Given the description of an element on the screen output the (x, y) to click on. 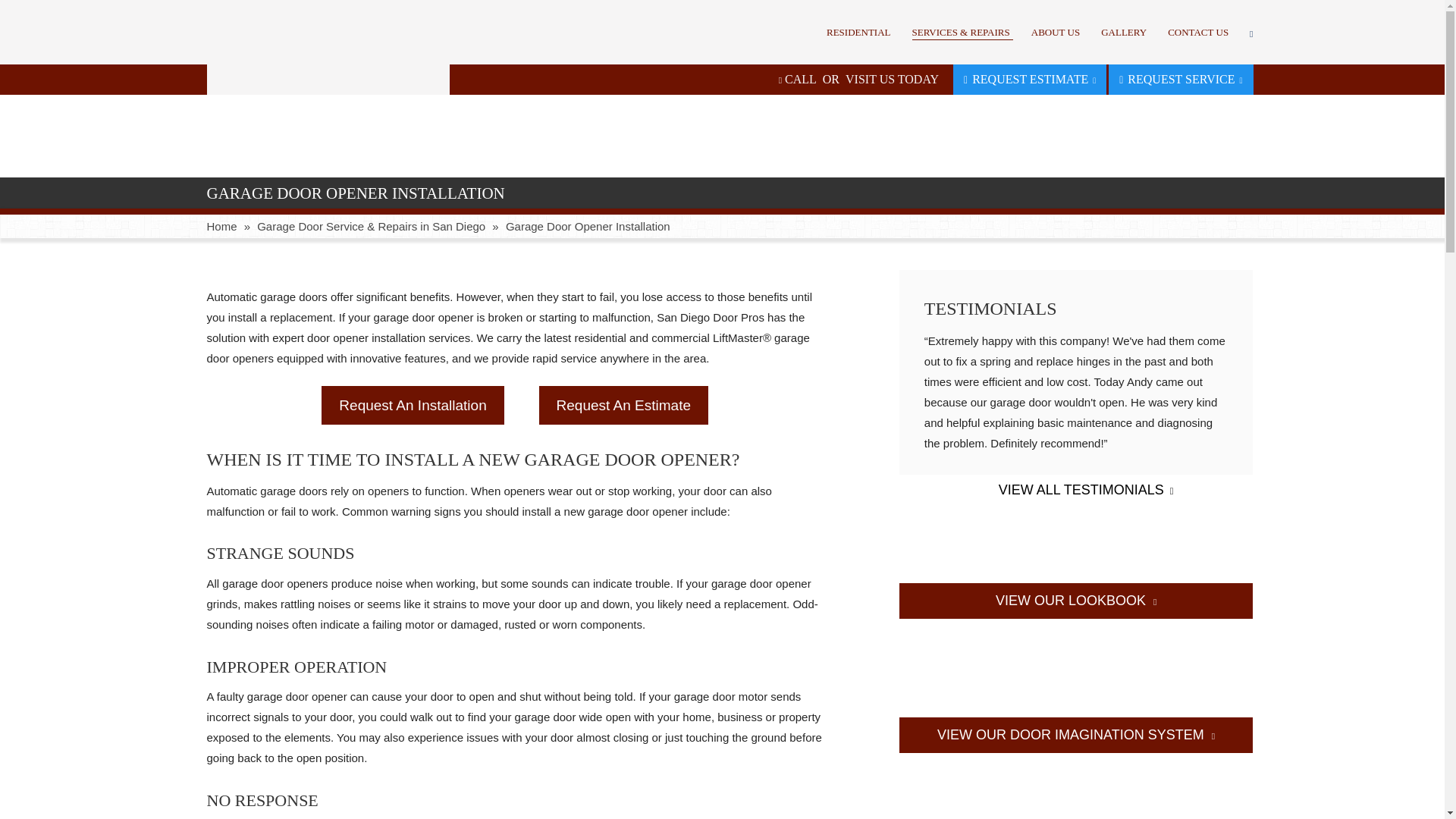
RESIDENTIAL (858, 32)
ABOUT US (1055, 32)
